Given the description of an element on the screen output the (x, y) to click on. 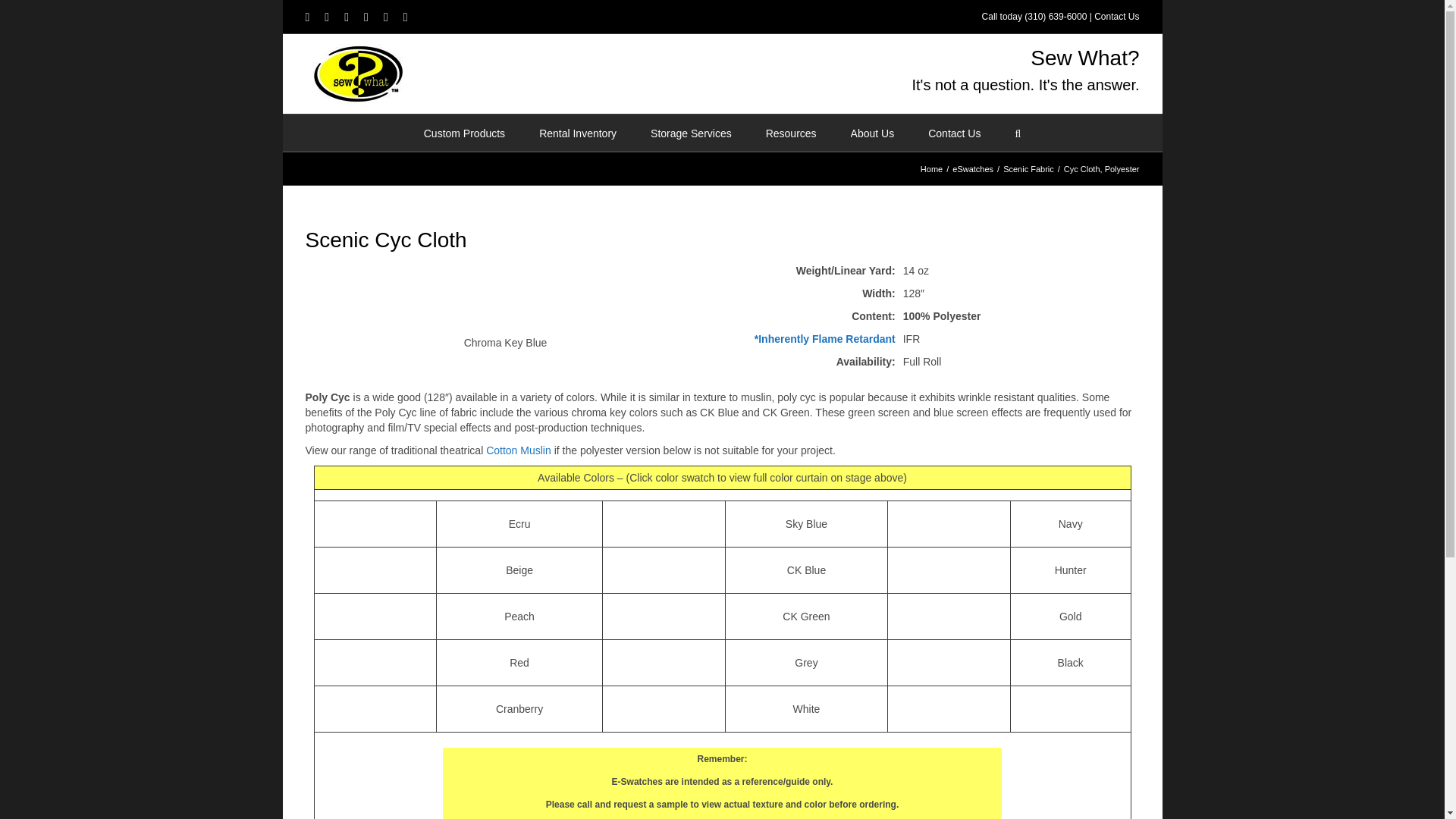
Flickr (326, 16)
Search (1017, 132)
YouTube (346, 16)
LinkedIn (405, 16)
Pinterest (386, 16)
Custom Products (464, 132)
LinkedIn (405, 16)
Facebook (306, 16)
Contact Us (1116, 16)
Instagram (366, 16)
Pinterest (386, 16)
Storage Services (691, 132)
ChromaKeyBlue (504, 296)
YouTube (346, 16)
Rental Inventory (576, 132)
